Given the description of an element on the screen output the (x, y) to click on. 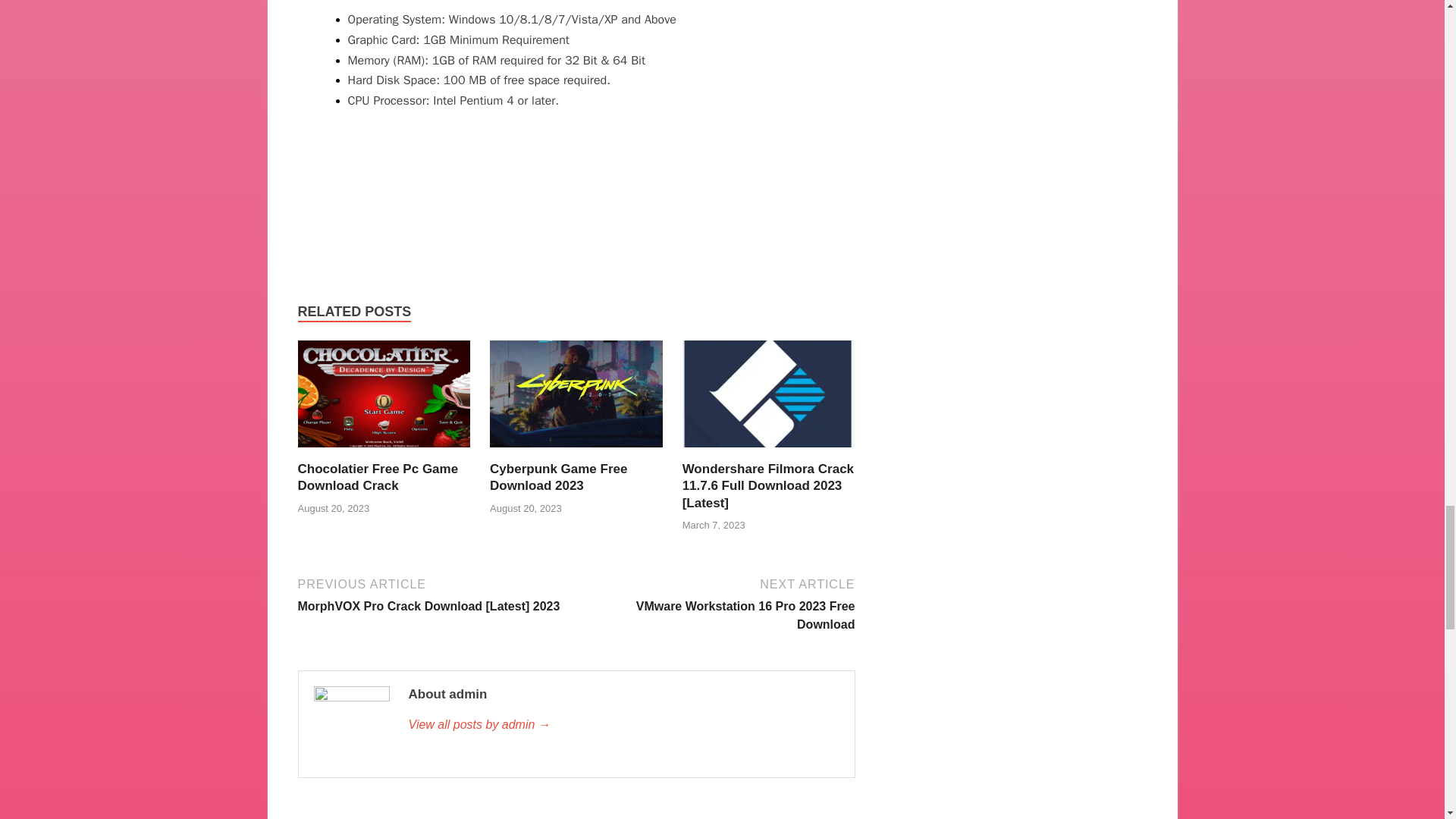
Chocolatier Free Pc Game Download Crack (717, 602)
Chocolatier Free Pc Game Download Crack (377, 477)
Cyberpunk Game Free Download 2023 (377, 477)
Cyberpunk Game Free Download 2023 (558, 477)
Cyberpunk Game Free Download 2023 (575, 451)
admin (558, 477)
Chocolatier Free Pc Game Download Crack (622, 724)
